Given the description of an element on the screen output the (x, y) to click on. 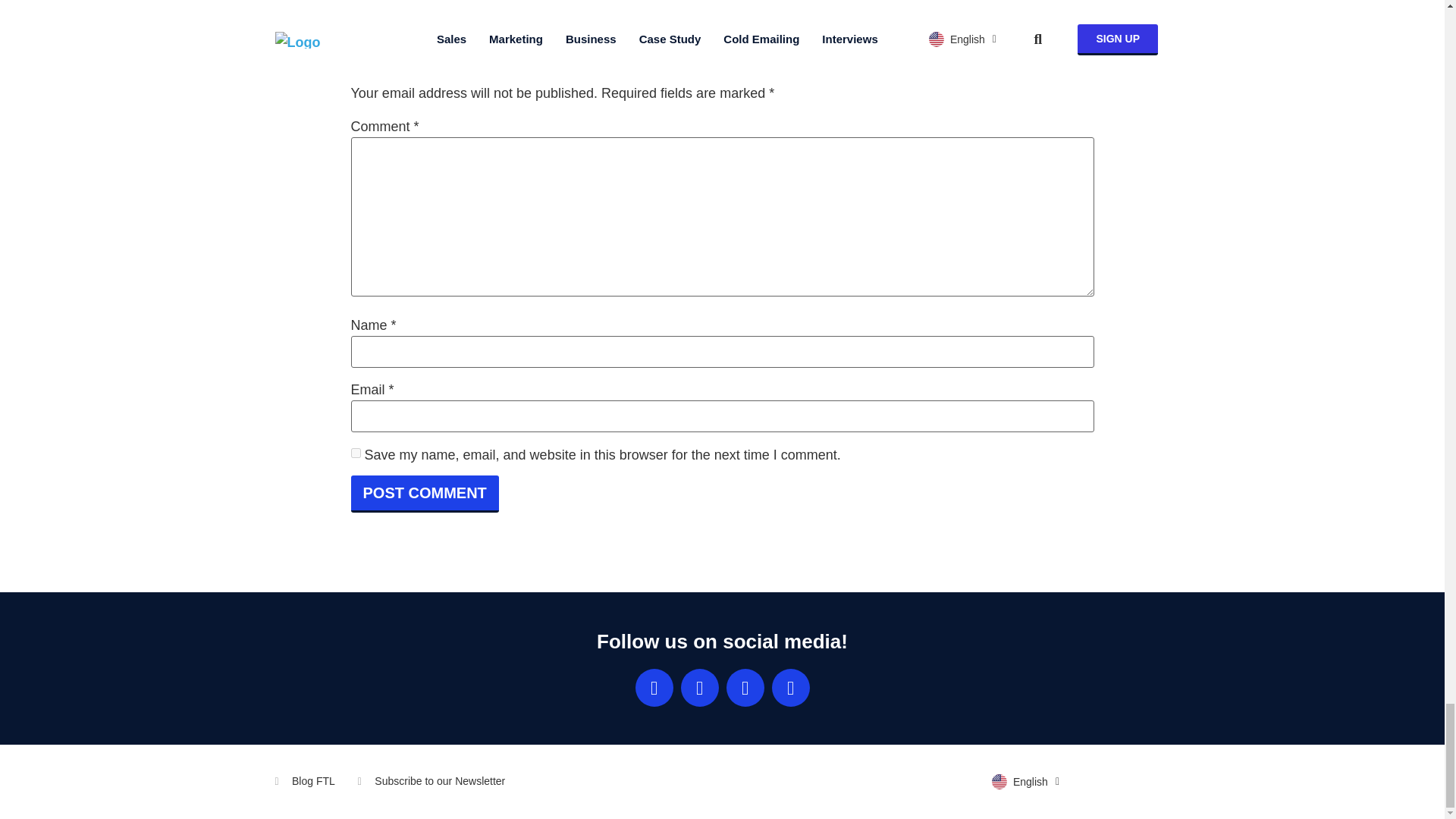
yes (354, 452)
Post Comment (423, 493)
